Given the description of an element on the screen output the (x, y) to click on. 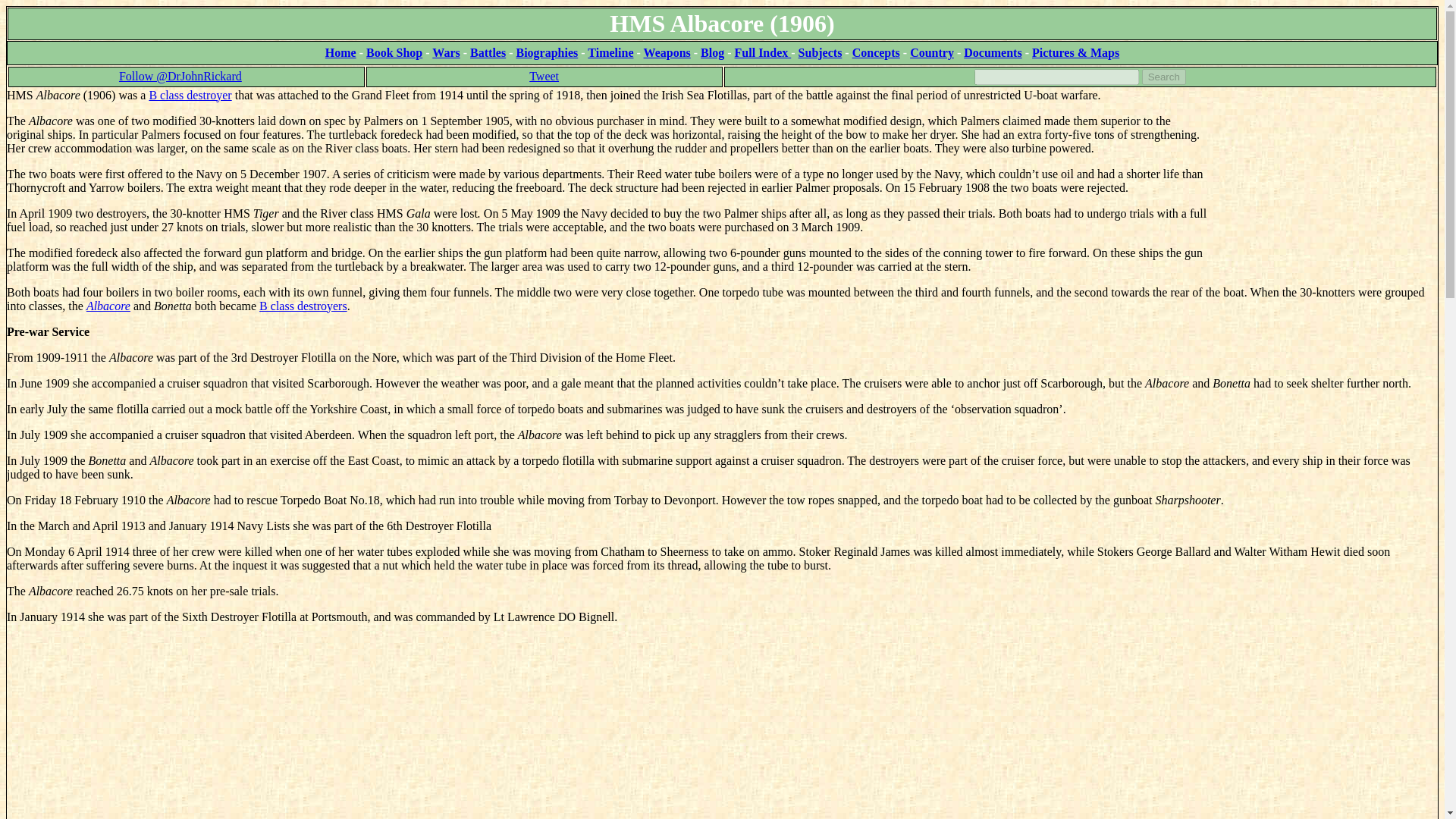
Index of longer articles (992, 51)
Main Index of articles (763, 51)
Blog (711, 51)
Link to our discussion forum (1075, 51)
Search (1163, 76)
Special Subject Indexes (820, 51)
Search (1163, 76)
Return to Home Page (340, 51)
Concepts (875, 51)
Index of articles on Wars (446, 51)
